Given the description of an element on the screen output the (x, y) to click on. 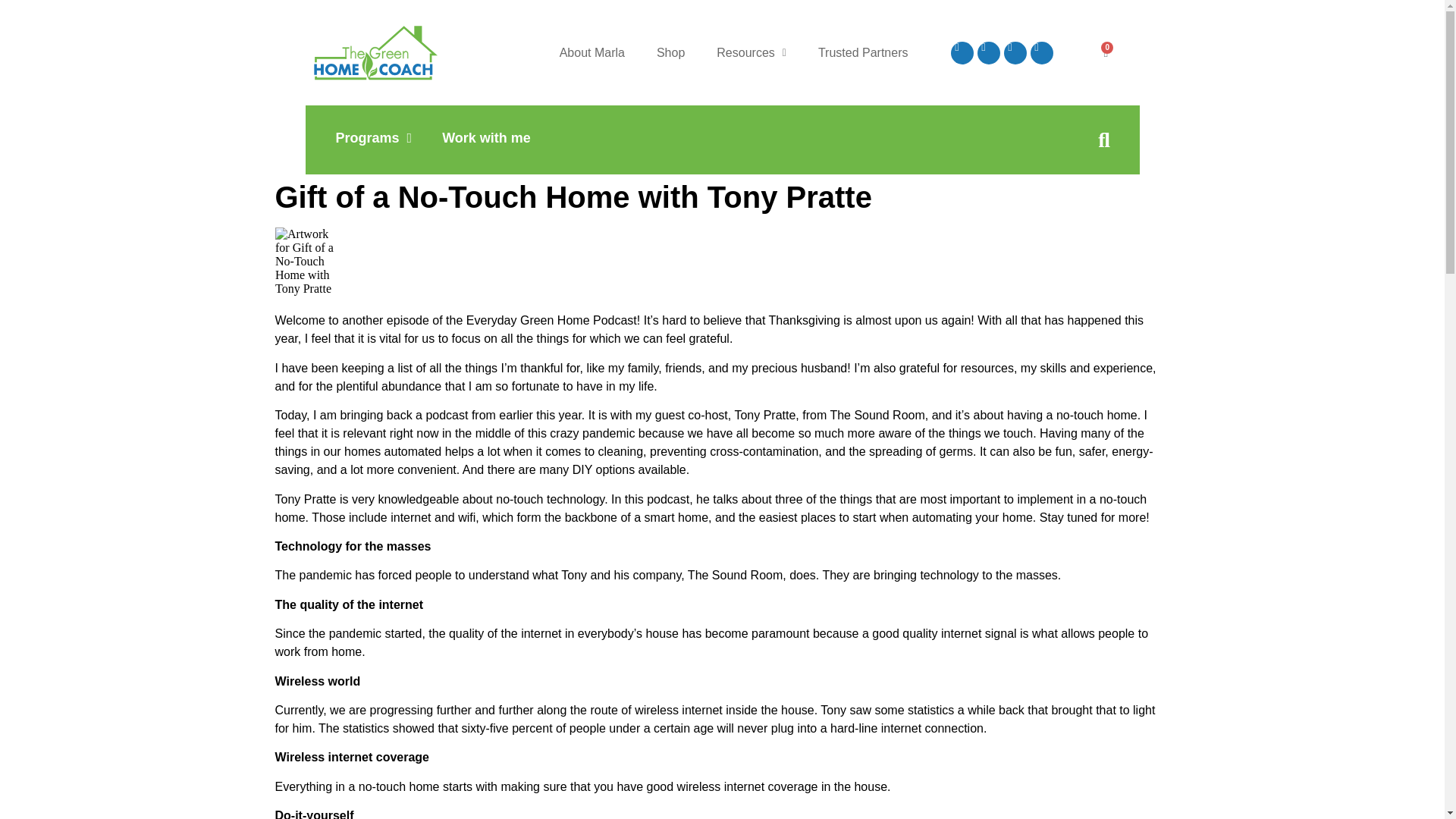
Trusted Partners (863, 52)
About Marla (592, 52)
Work with me (486, 137)
Resources (750, 52)
Shop (670, 52)
Programs (373, 137)
0 (1104, 52)
